Given the description of an element on the screen output the (x, y) to click on. 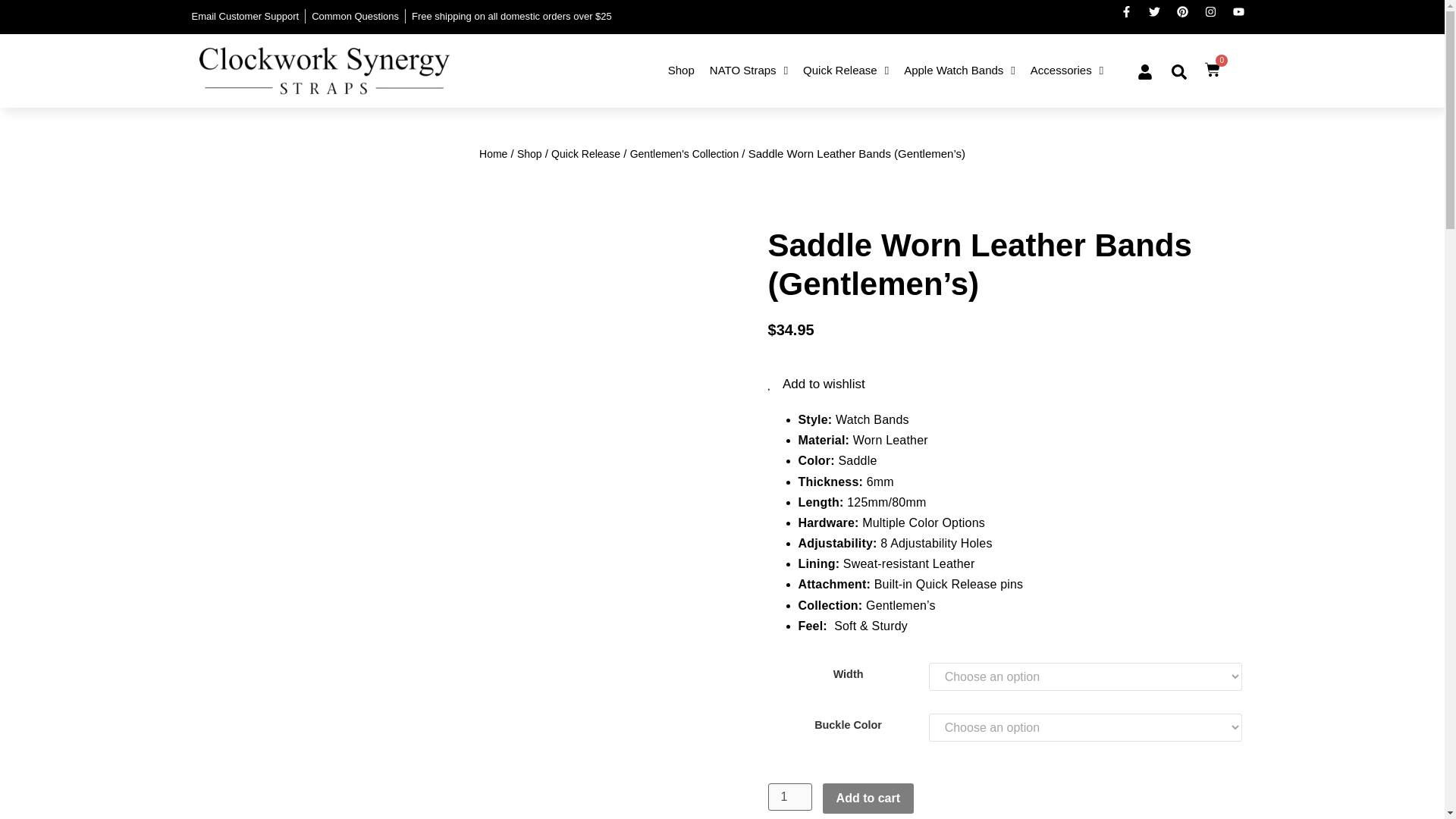
NATO Straps (747, 70)
Shop (681, 70)
Email Customer Support (244, 16)
1 (788, 796)
Common Questions (354, 16)
